Given the description of an element on the screen output the (x, y) to click on. 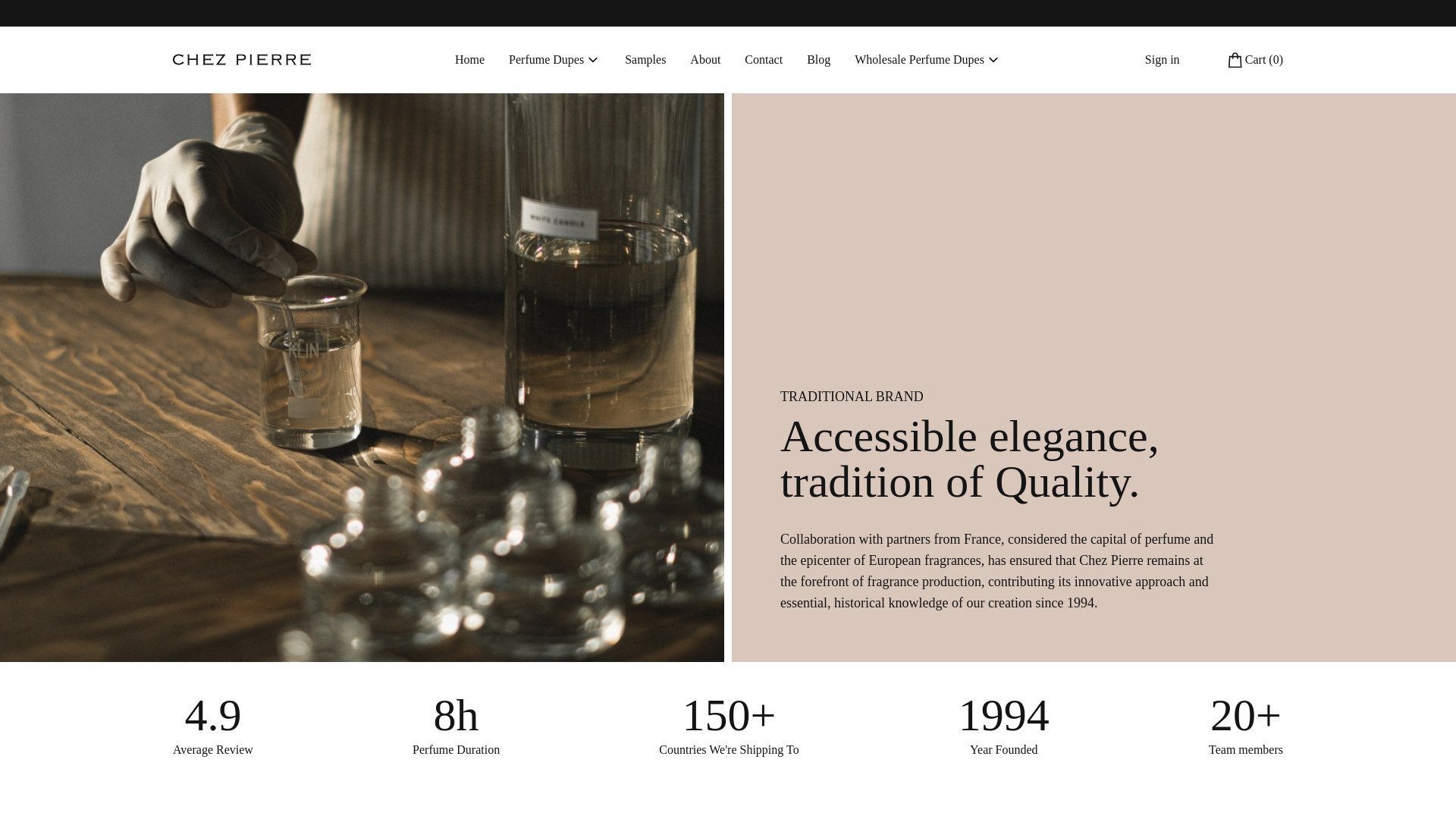
Contact (763, 59)
Wholesale Perfume Dupes (927, 59)
Home (469, 59)
Perfume Dupes (553, 59)
About (705, 59)
Samples (644, 59)
Sign in (1161, 59)
Blog (817, 59)
